Given the description of an element on the screen output the (x, y) to click on. 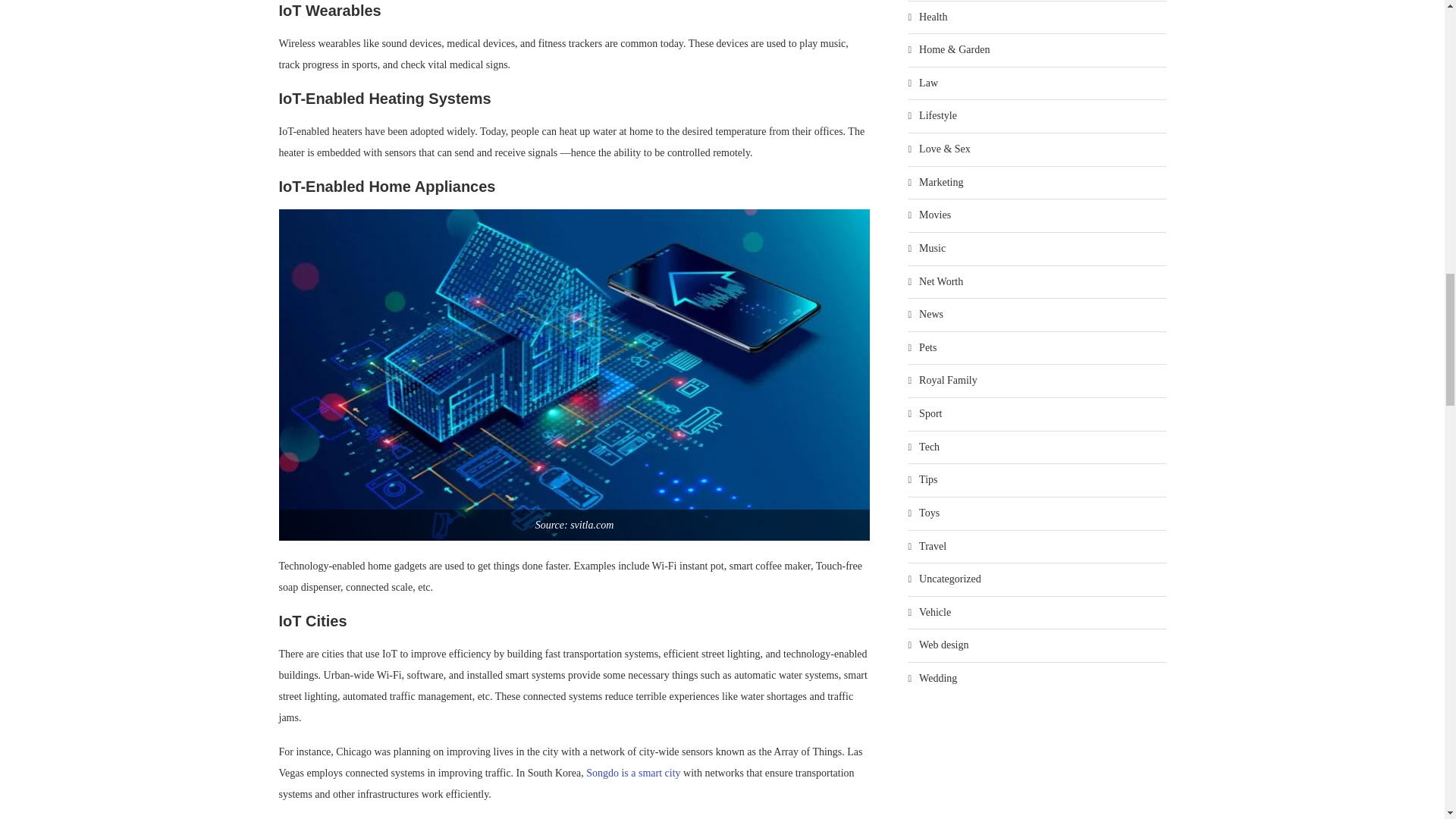
Songdo is a smart city (632, 772)
